Given the description of an element on the screen output the (x, y) to click on. 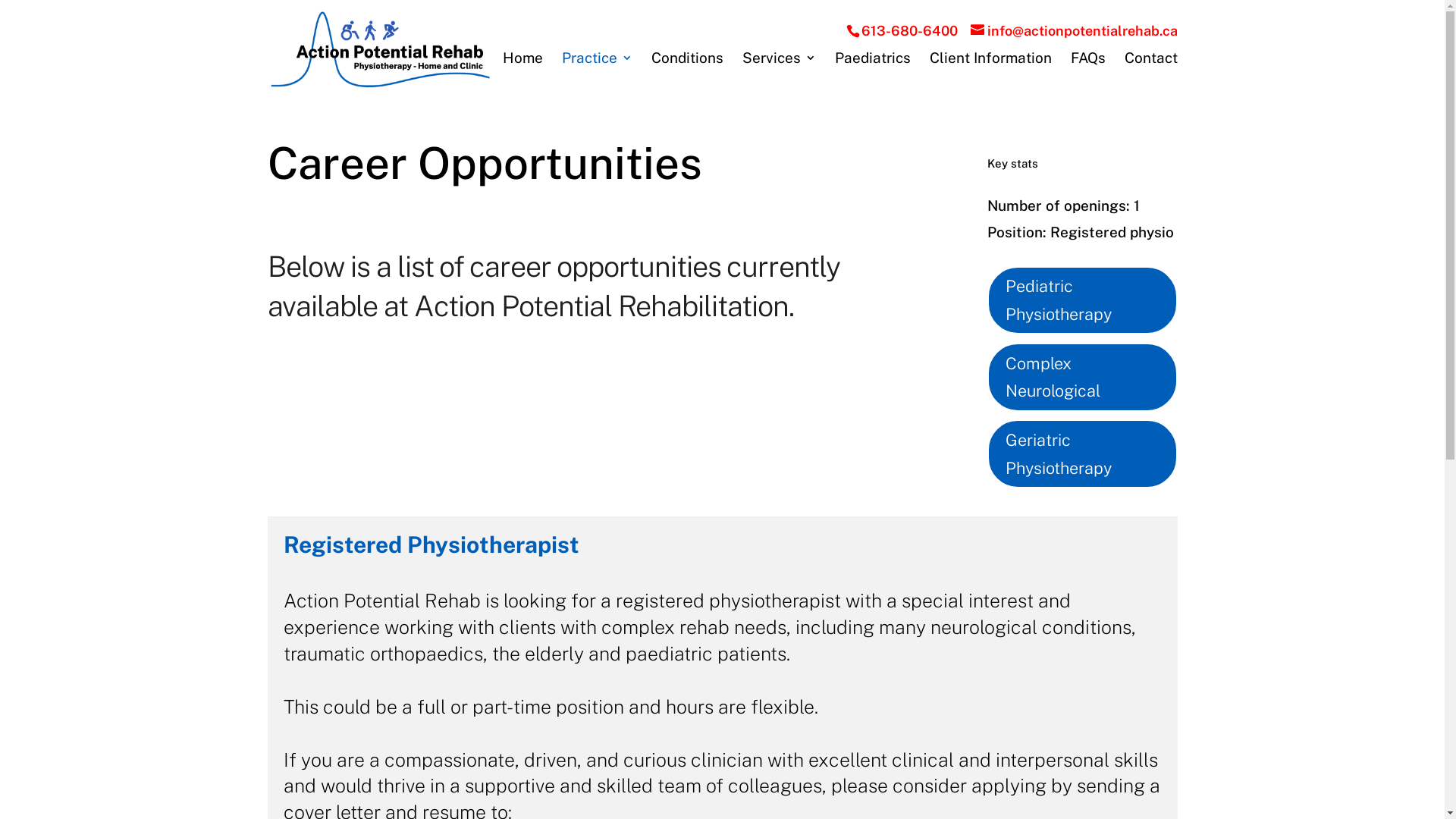
Conditions Element type: text (686, 60)
FAQs Element type: text (1087, 60)
Paediatrics Element type: text (872, 60)
Pediatric Physiotherapy Element type: text (1082, 300)
Contact Element type: text (1149, 60)
Complex Neurological Element type: text (1082, 376)
info@actionpotentialrehab.ca Element type: text (1073, 30)
Client Information Element type: text (990, 60)
Home Element type: text (522, 60)
Practice Element type: text (596, 60)
Search Element type: text (25, 17)
Geriatric Physiotherapy Element type: text (1082, 453)
Services Element type: text (778, 60)
